Given the description of an element on the screen output the (x, y) to click on. 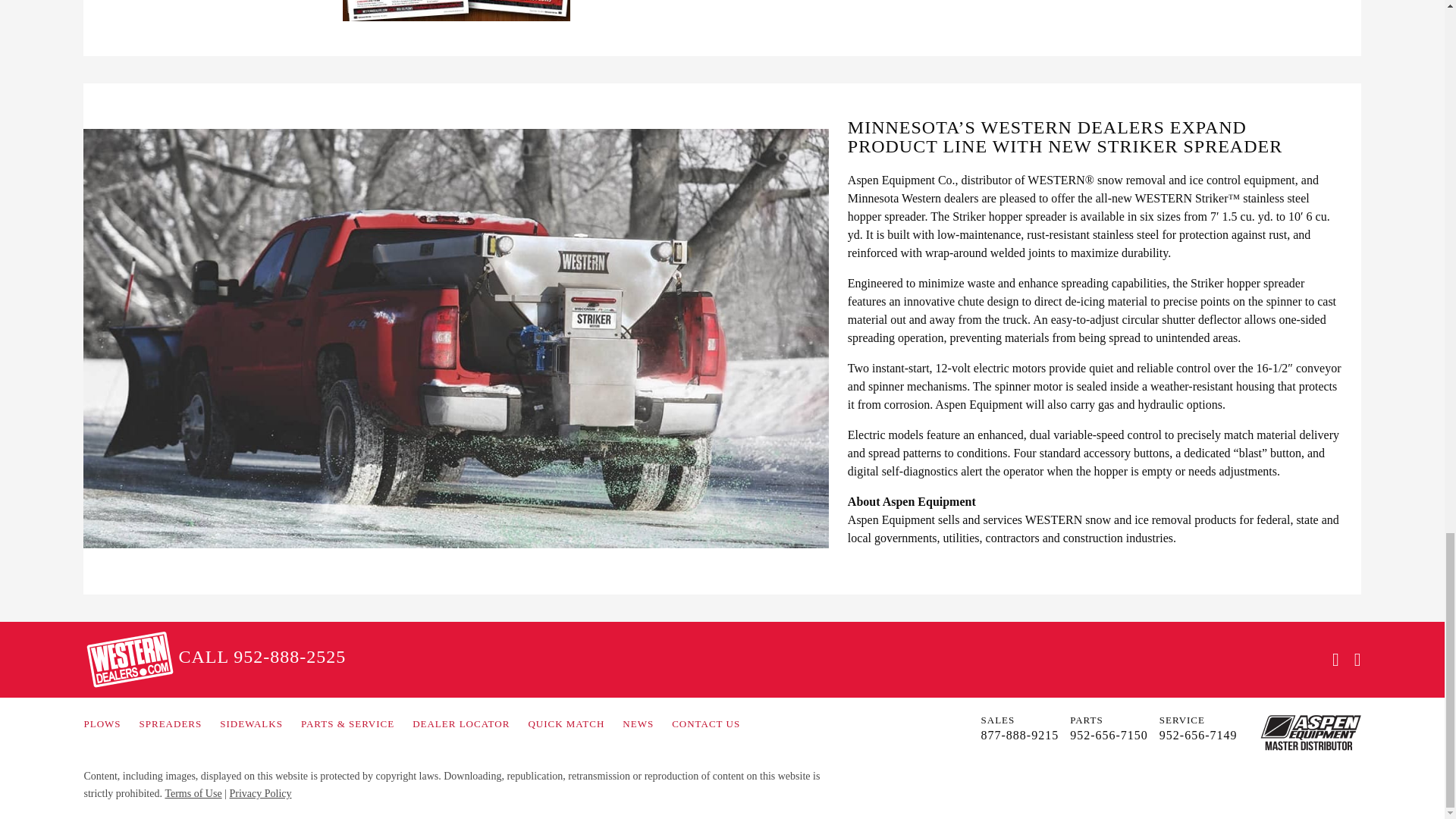
PLOWS (101, 724)
Privacy Policy (259, 793)
Terms of Use (192, 793)
877-888-9215 (1020, 734)
NEWS (638, 724)
CALL 952-888-2525 (261, 655)
CONTACT US (705, 724)
SPREADERS (170, 724)
952-656-7150 (1109, 734)
SIDEWALKS (250, 724)
